Given the description of an element on the screen output the (x, y) to click on. 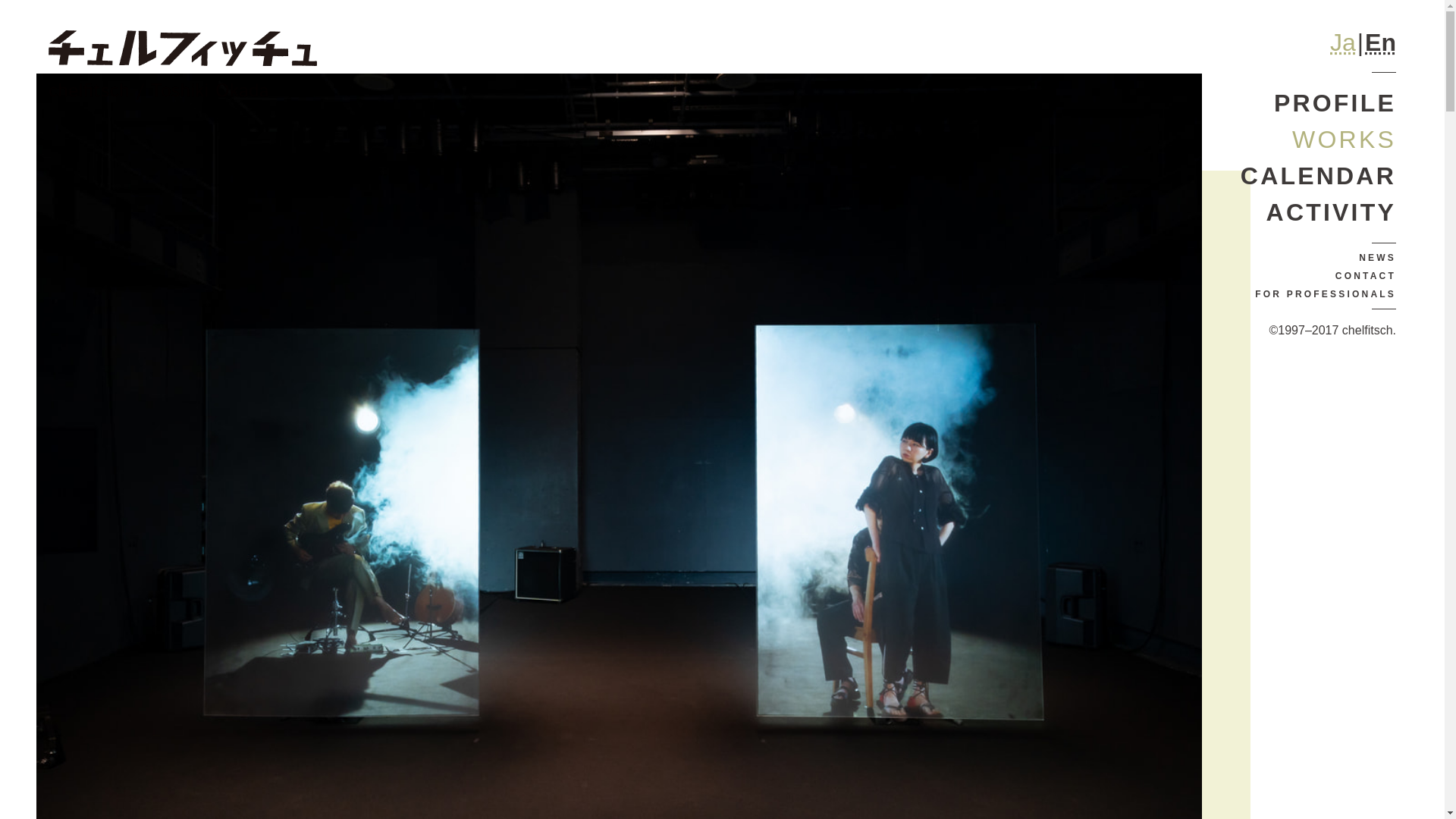
CALENDAR (1318, 176)
ACTIVITY (1318, 212)
CONTACT (1318, 275)
WORKS (1318, 139)
Ja (1342, 42)
En (1380, 42)
English (1380, 42)
FOR PROFESSIONALS (1318, 294)
PROFILE (1318, 103)
NEWS (1318, 257)
